Given the description of an element on the screen output the (x, y) to click on. 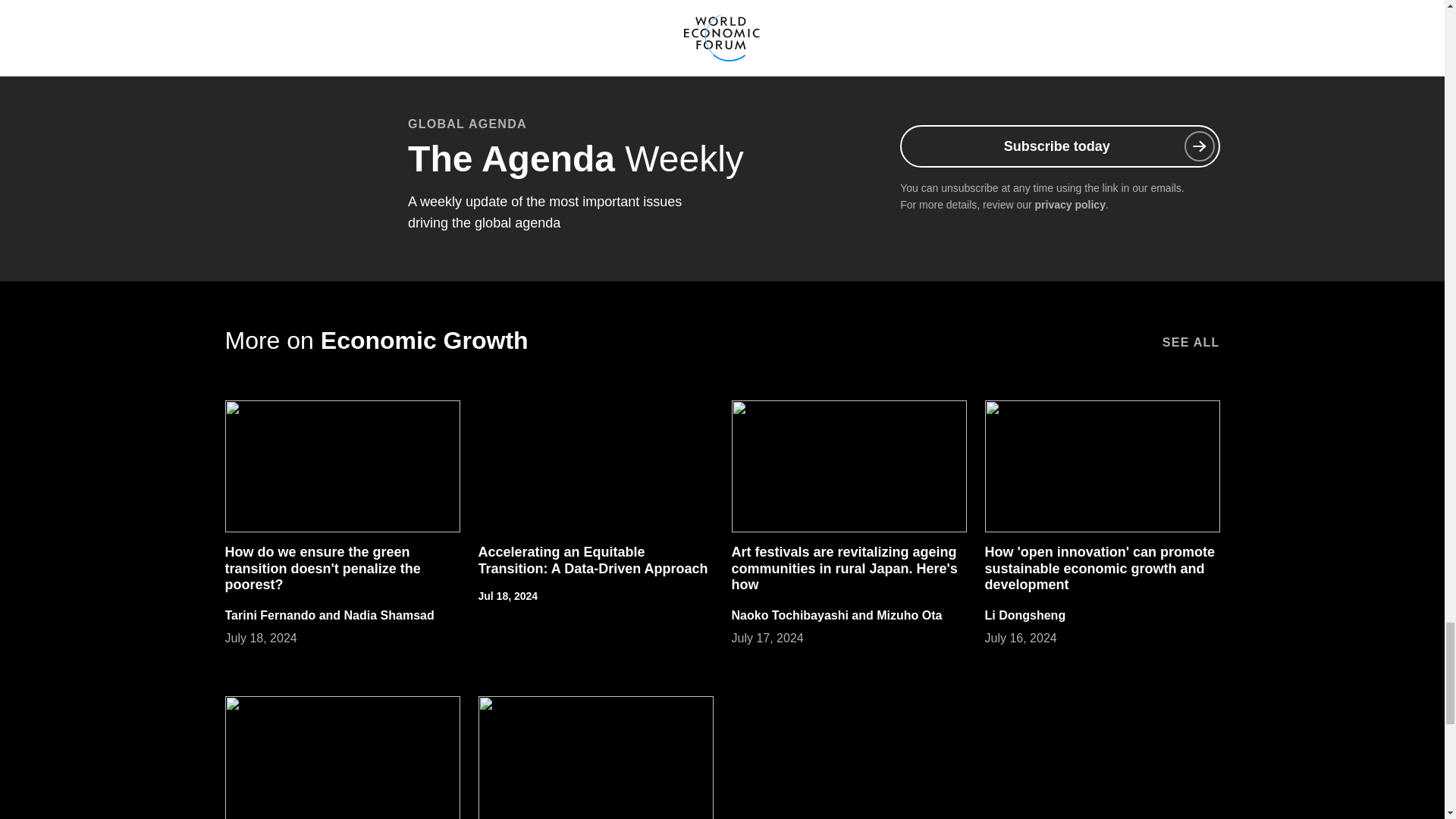
SEE ALL (1190, 339)
privacy policy (1070, 204)
Subscribe today (1059, 146)
